Given the description of an element on the screen output the (x, y) to click on. 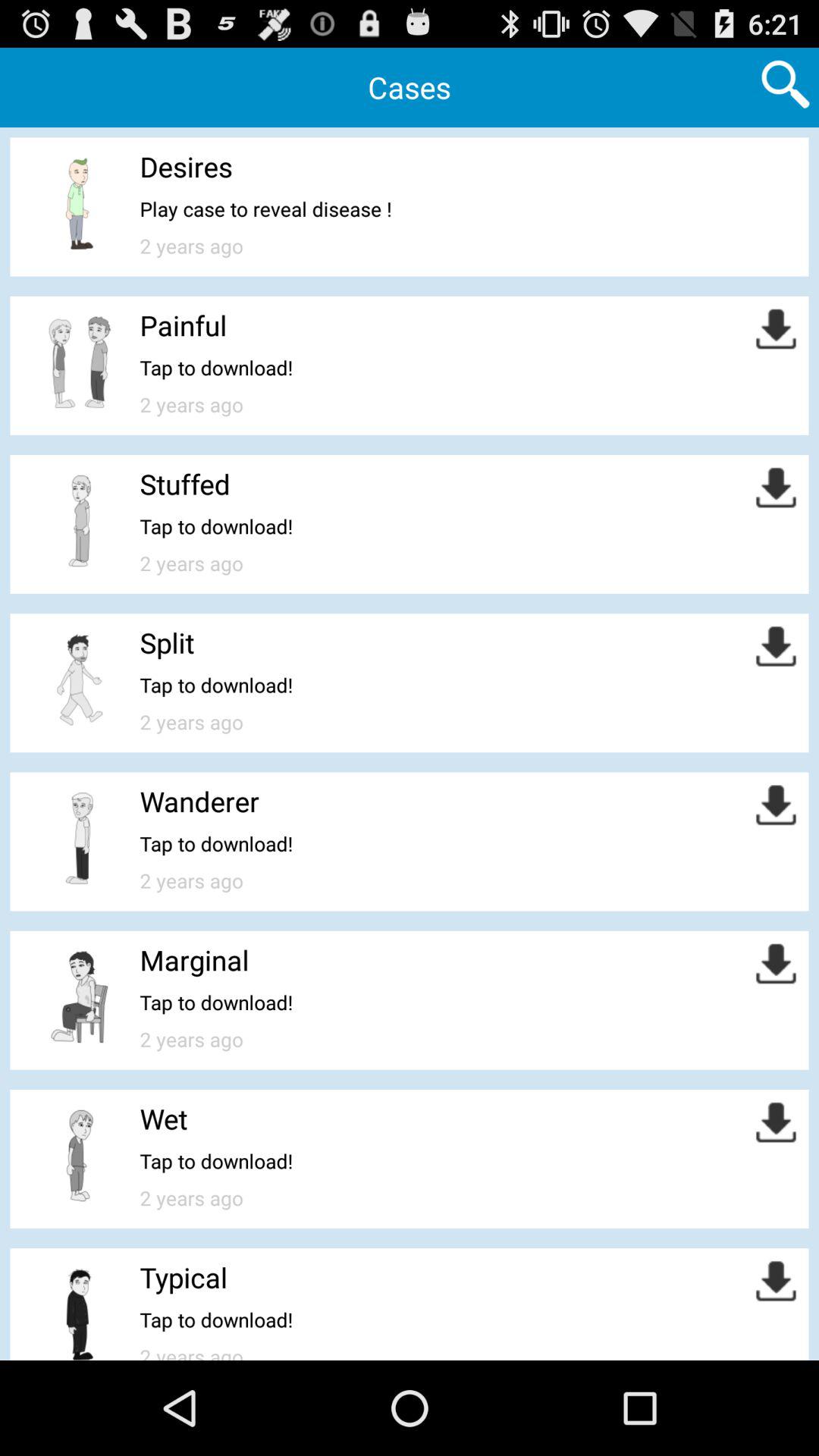
select app above the tap to download! app (166, 642)
